Given the description of an element on the screen output the (x, y) to click on. 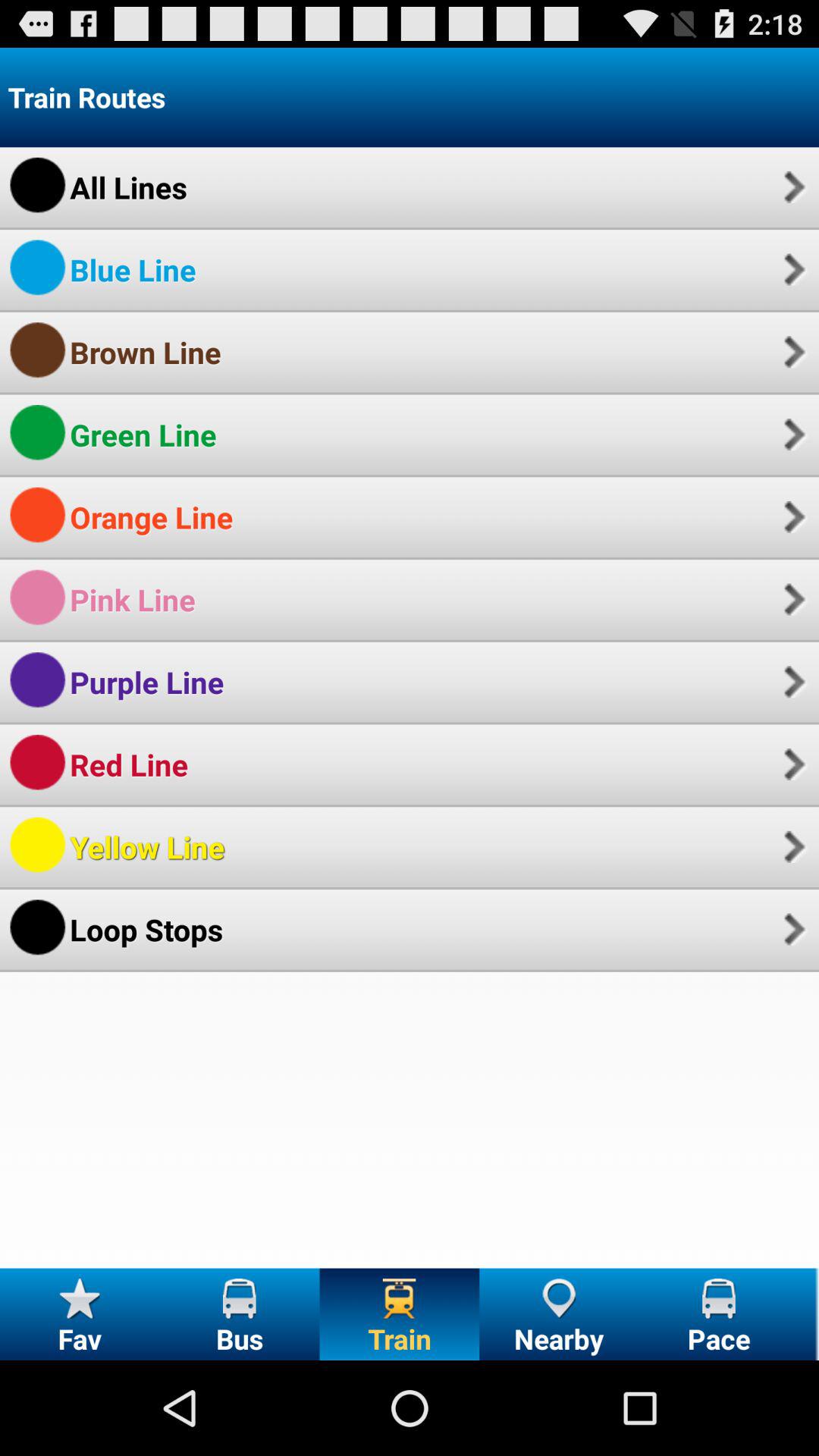
turn on the icon below the train routes app (128, 187)
